Given the description of an element on the screen output the (x, y) to click on. 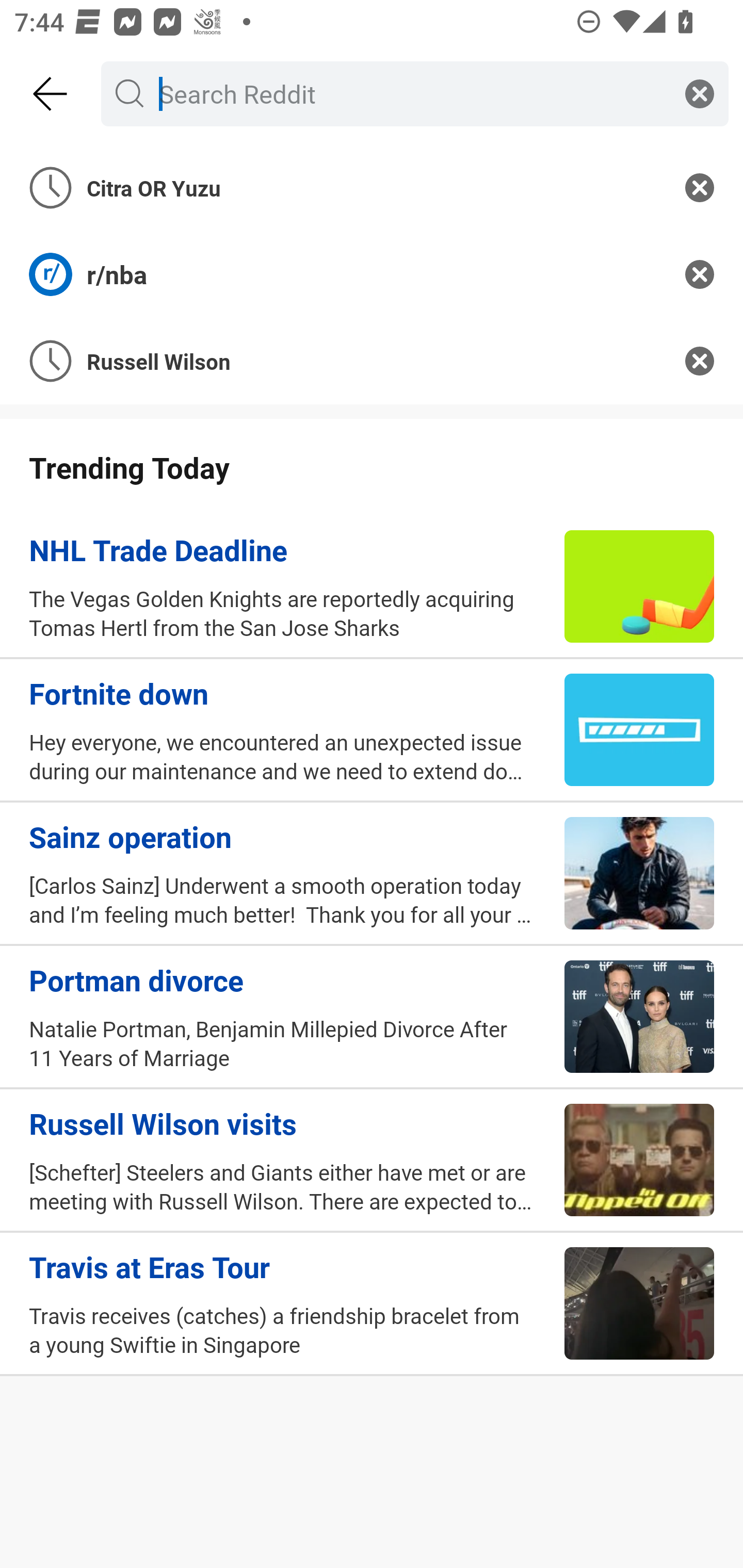
Back (50, 93)
Search Reddit (410, 93)
Clear search (699, 93)
Citra OR Yuzu Recent search: Citra OR Yuzu Remove (371, 187)
Remove (699, 187)
r/nba Recent search: r/nba Remove (371, 274)
Remove (699, 274)
Remove (699, 361)
